Given the description of an element on the screen output the (x, y) to click on. 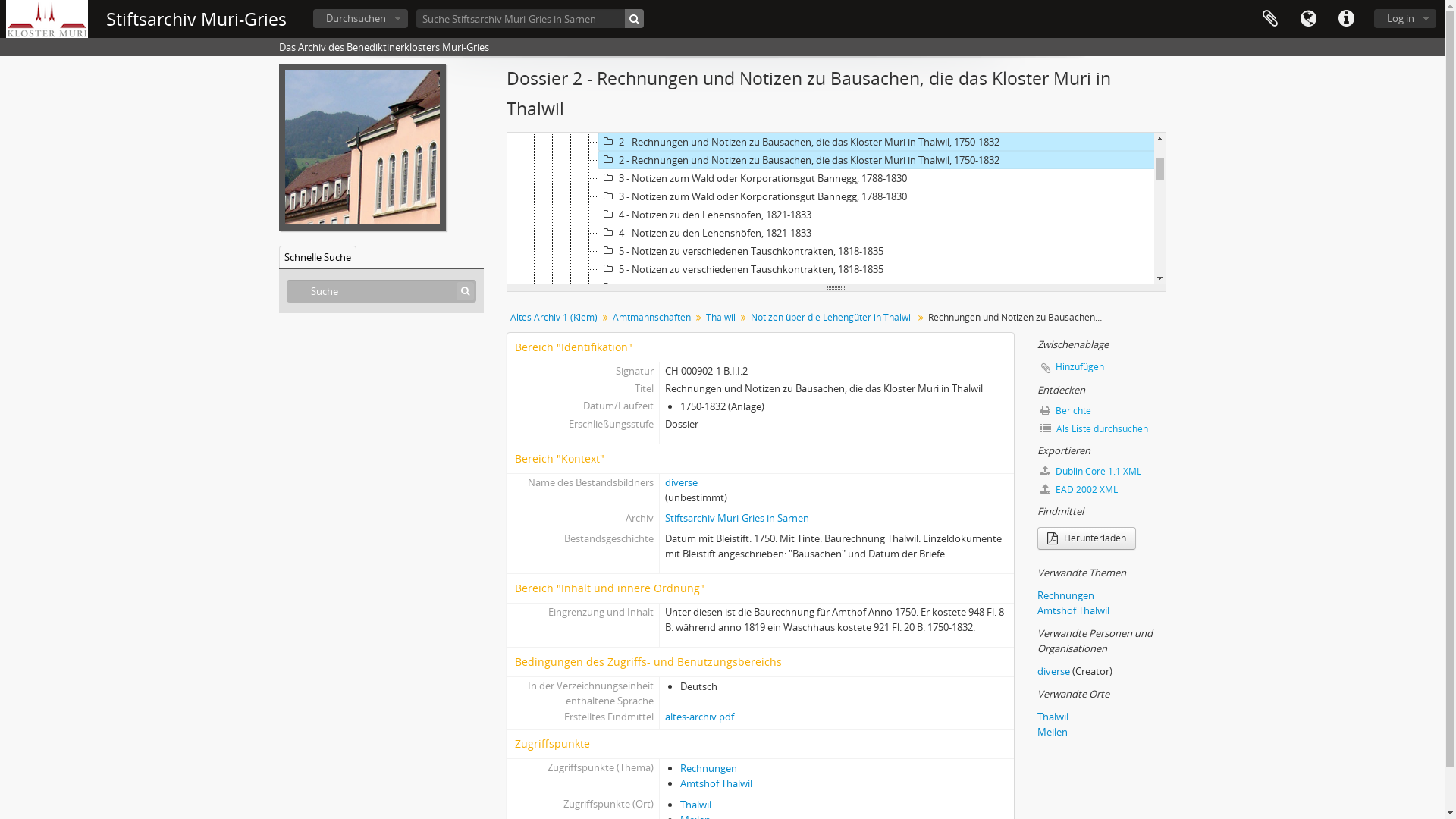
Altes Archiv 1 (Kiem) Element type: text (553, 317)
Altes Archiv 1 (Kiem), 16. bis 19. Jh. Element type: text (838, 32)
8 - Briefe und Notizen zum Rechnungswesen, 1798-1838 Element type: text (876, 378)
Dublin Core 1.1 XML Element type: text (1101, 471)
Zwischenablage Element type: text (1270, 18)
Log in Element type: text (1405, 18)
8 - Briefe und Notizen zum Rechnungswesen, 1798-1838 Element type: text (876, 742)
Meilen Element type: text (1052, 731)
Amtmannschaften Element type: text (650, 317)
Rechnungen Element type: text (1065, 595)
Durchsuchen Element type: text (360, 18)
5 - Notizen zu verschiedenen Tauschkontrakten, 1818-1835 Element type: text (876, 614)
altes-archiv.pdf Element type: text (699, 716)
Berichte Element type: text (1101, 410)
Stiftsarchiv Muri-Gries in Sarnen Element type: text (737, 517)
Rechnungen Element type: text (708, 768)
8 - Briefe und Notizen zum Rechnungswesen, 1798-1838 Element type: text (876, 360)
Stiftsarchiv Muri-Gries Element type: text (196, 19)
8 - Briefe und Notizen zum Rechnungswesen, 1798-1838 Element type: text (876, 724)
3 - Notizen zum Wald oder Korporationsgut Bannegg, 1788-1830 Element type: text (876, 560)
3 - Notizen zum Wald oder Korporationsgut Bannegg, 1788-1830 Element type: text (876, 542)
Thalwil Element type: text (1052, 716)
I - Thalwil Element type: text (857, 87)
5 - Notizen zu verschiedenen Tauschkontrakten, 1818-1835 Element type: text (876, 250)
Sprache Element type: text (1308, 18)
Thalwil Element type: text (720, 317)
diverse Element type: text (681, 482)
Thalwil Element type: text (695, 804)
3 - Notizen zum Wald oder Korporationsgut Bannegg, 1788-1830 Element type: text (876, 196)
3 - Notizen zum Wald oder Korporationsgut Bannegg, 1788-1830 Element type: text (876, 178)
5 - Notizen zu verschiedenen Tauschkontrakten, 1818-1835 Element type: text (876, 633)
5 - Notizen zu verschiedenen Tauschkontrakten, 1818-1835 Element type: text (876, 269)
Schnelle Suche Element type: text (317, 256)
Herunterladen Element type: text (1086, 538)
I - Thalwil Element type: text (857, 451)
Direkter Link Element type: text (1346, 18)
A - Muri Element type: text (847, 50)
B - Amtmannschaften Element type: text (847, 68)
Als Liste durchsuchen Element type: text (1101, 429)
EAD 2002 XML Element type: text (1101, 489)
diverse Element type: text (1053, 670)
Amtshof Thalwil Element type: text (1073, 610)
Amtshof Thalwil Element type: text (716, 783)
